Given the description of an element on the screen output the (x, y) to click on. 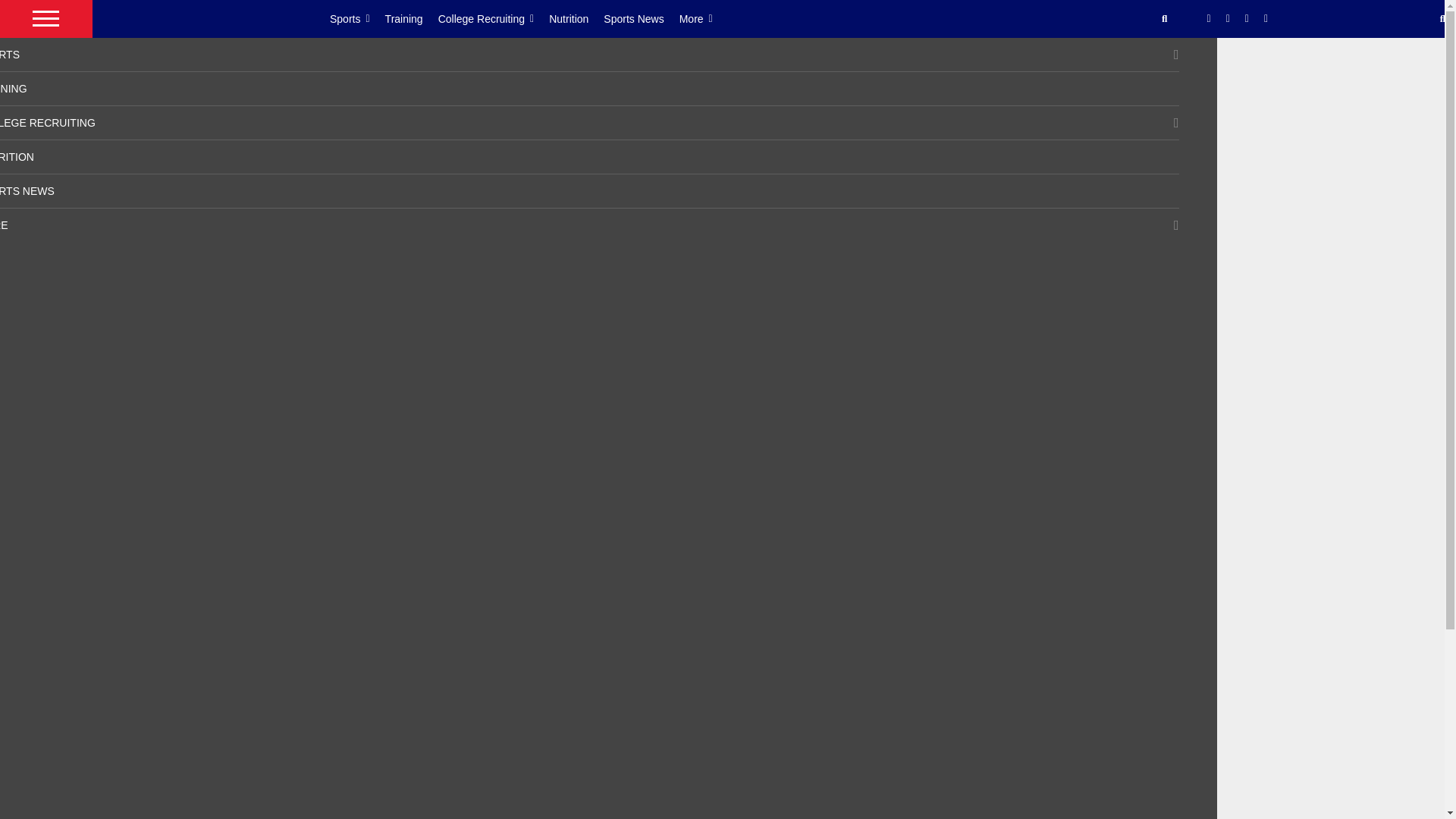
Training (411, 18)
COLLEGE RECRUITING (48, 122)
Nutrition (576, 18)
YouTube (1265, 18)
Sports News (641, 18)
College Recruiting (494, 18)
MORE (4, 224)
NUTRITION (16, 156)
SPORTS NEWS (27, 191)
SPORTS (10, 54)
Facebook (1209, 18)
Sports (357, 18)
More (703, 18)
Instagram (1246, 18)
